Given the description of an element on the screen output the (x, y) to click on. 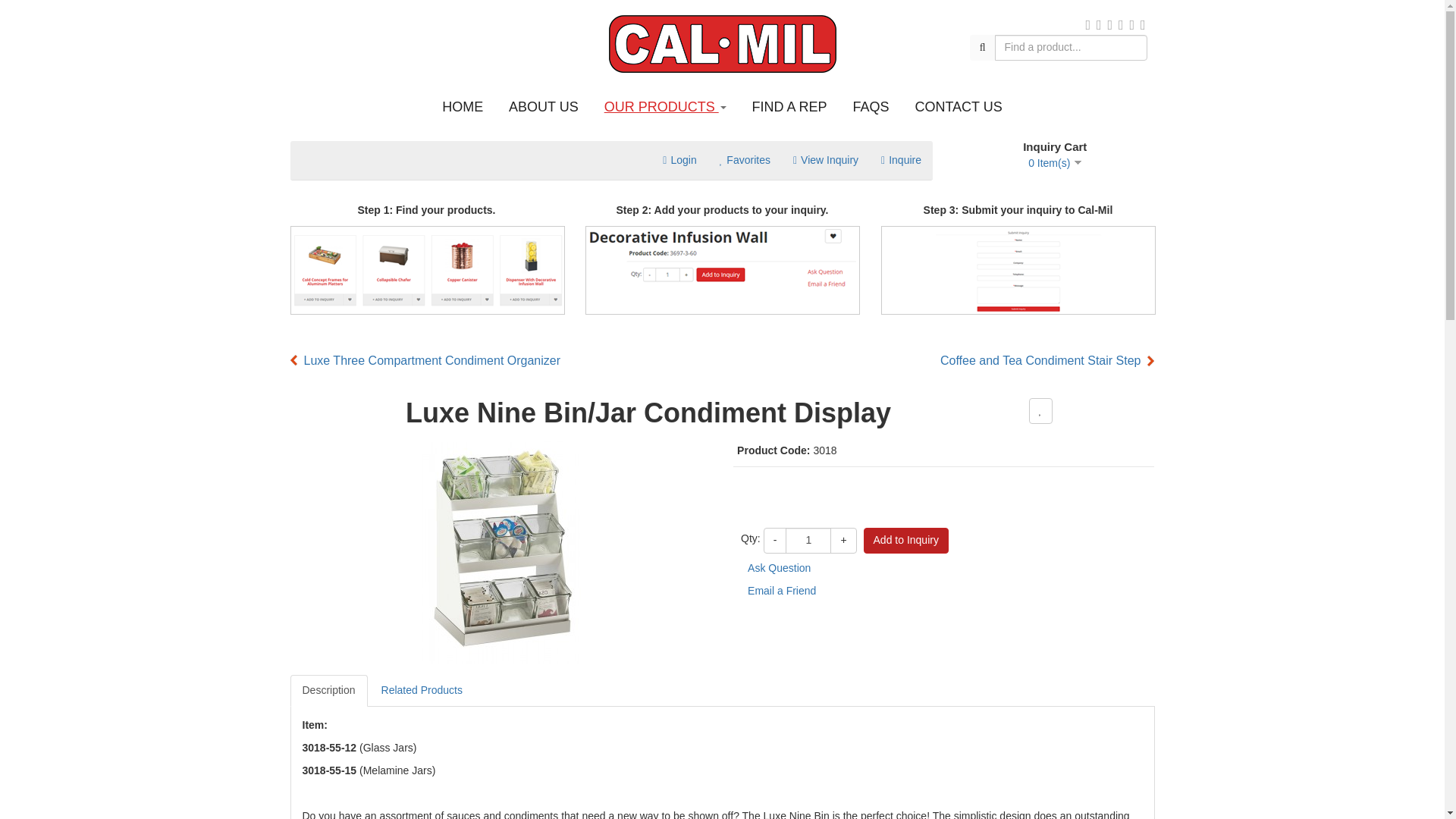
HOME (462, 106)
FIND A REP (789, 106)
Cal-Mil Plastic Products Inc. (721, 43)
View Inquiry (825, 159)
Opens a widget where you can chat to one of our agents (1386, 792)
ABOUT US (543, 106)
FAQS (871, 106)
Login (678, 159)
Coffee and Tea Condiment Stair Step (1047, 361)
CONTACT US (957, 106)
Add to Favorites (1040, 411)
OUR PRODUCTS (665, 106)
Coffee and Tea Condiment Stair Step (1047, 361)
Luxe Three Compartment Condiment Organizer (424, 361)
1 (808, 540)
